Given the description of an element on the screen output the (x, y) to click on. 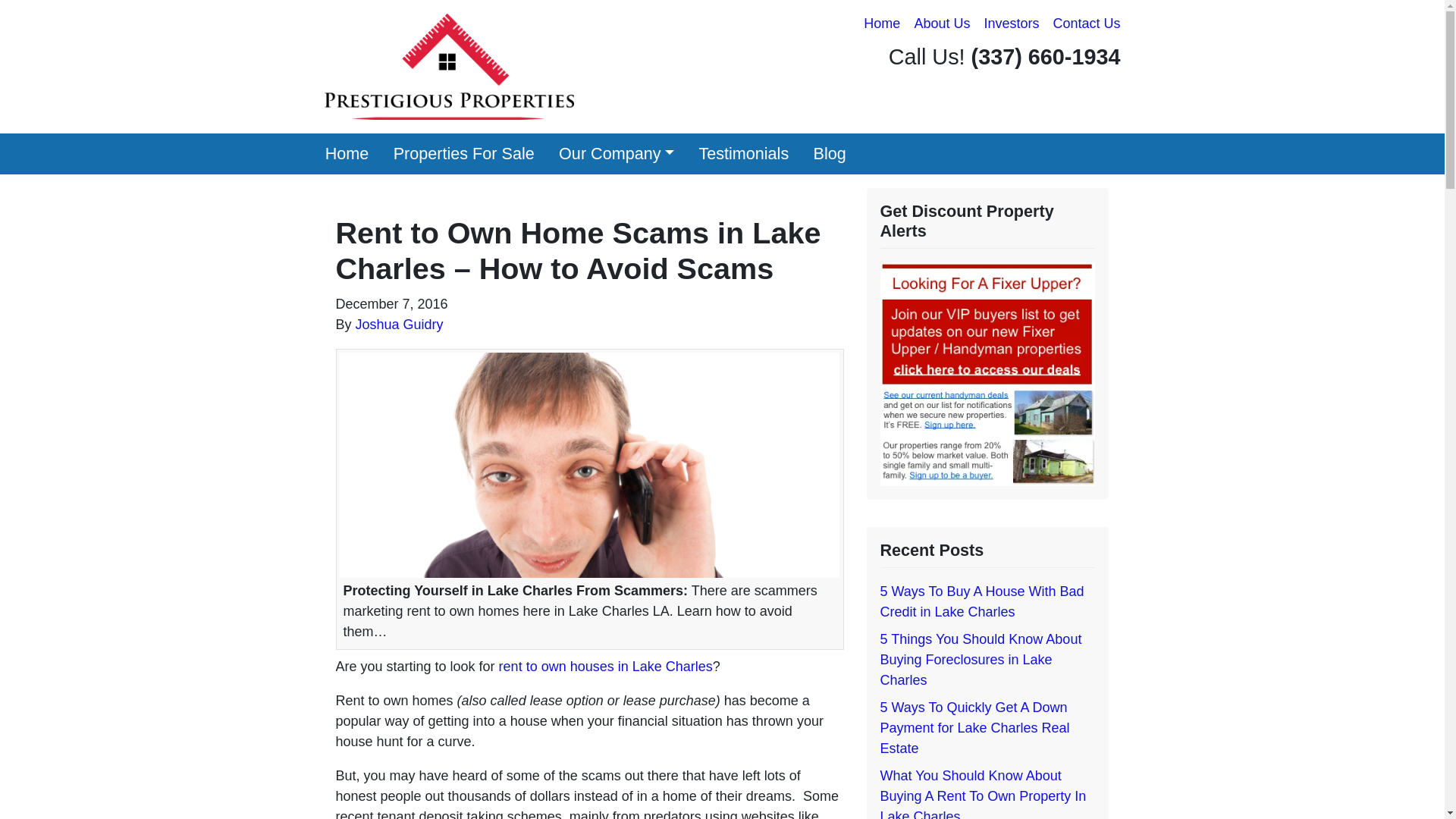
Testimonials (742, 153)
Our Company (616, 153)
 Lake Charles LA fixer upper properties for sale (986, 372)
5 Ways To Buy A House With Bad Credit in Lake Charles (981, 601)
Home (346, 153)
Home (346, 153)
Properties For Sale (463, 153)
Blog (829, 153)
About Us (941, 23)
Our Company (616, 153)
Home (882, 23)
Testimonials (742, 153)
Investors (1010, 23)
